Given the description of an element on the screen output the (x, y) to click on. 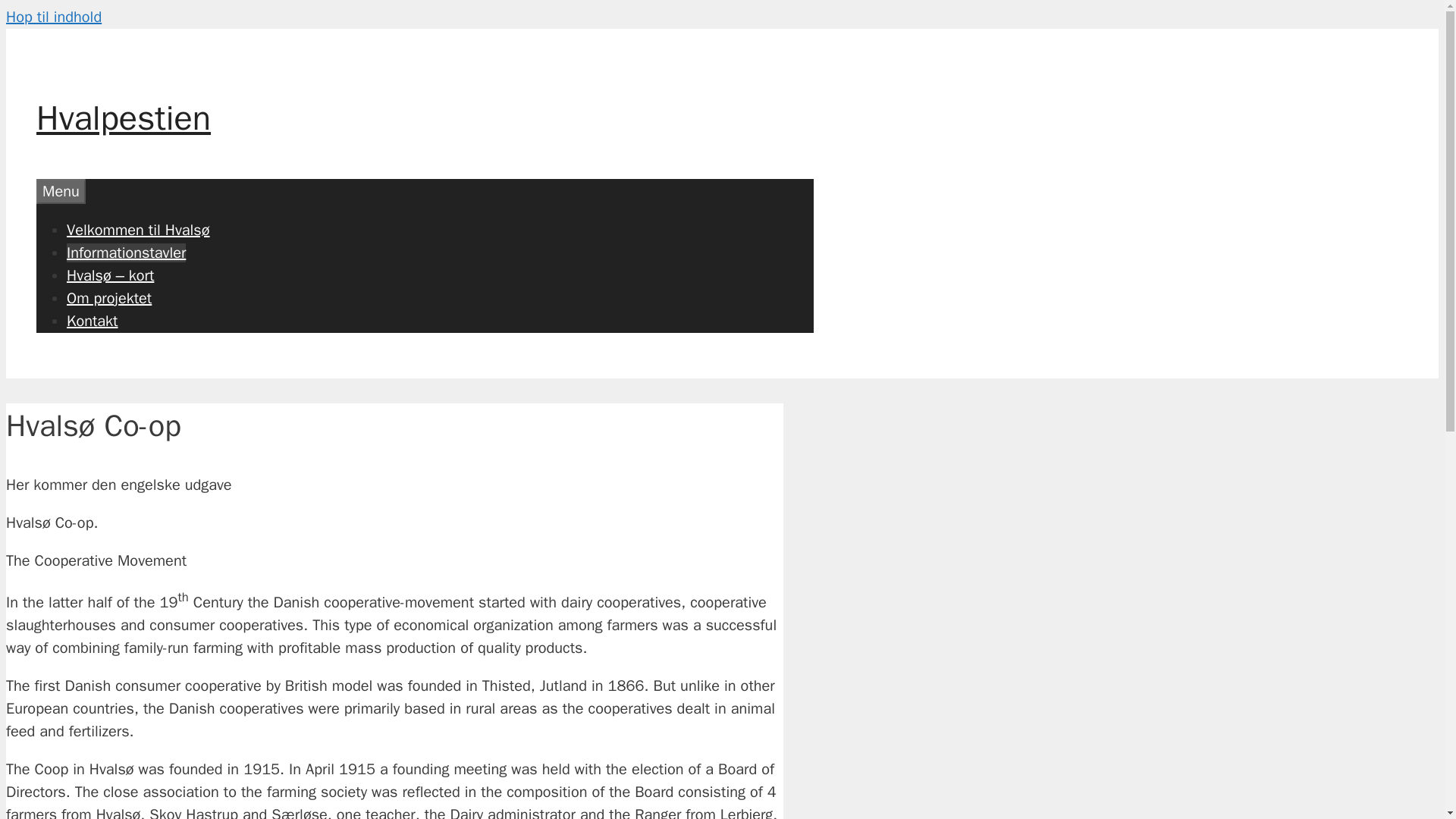
Informationstavler (126, 251)
Menu (60, 191)
Hop til indhold (53, 16)
Hop til indhold (53, 16)
Hvalpestien (123, 118)
